Given the description of an element on the screen output the (x, y) to click on. 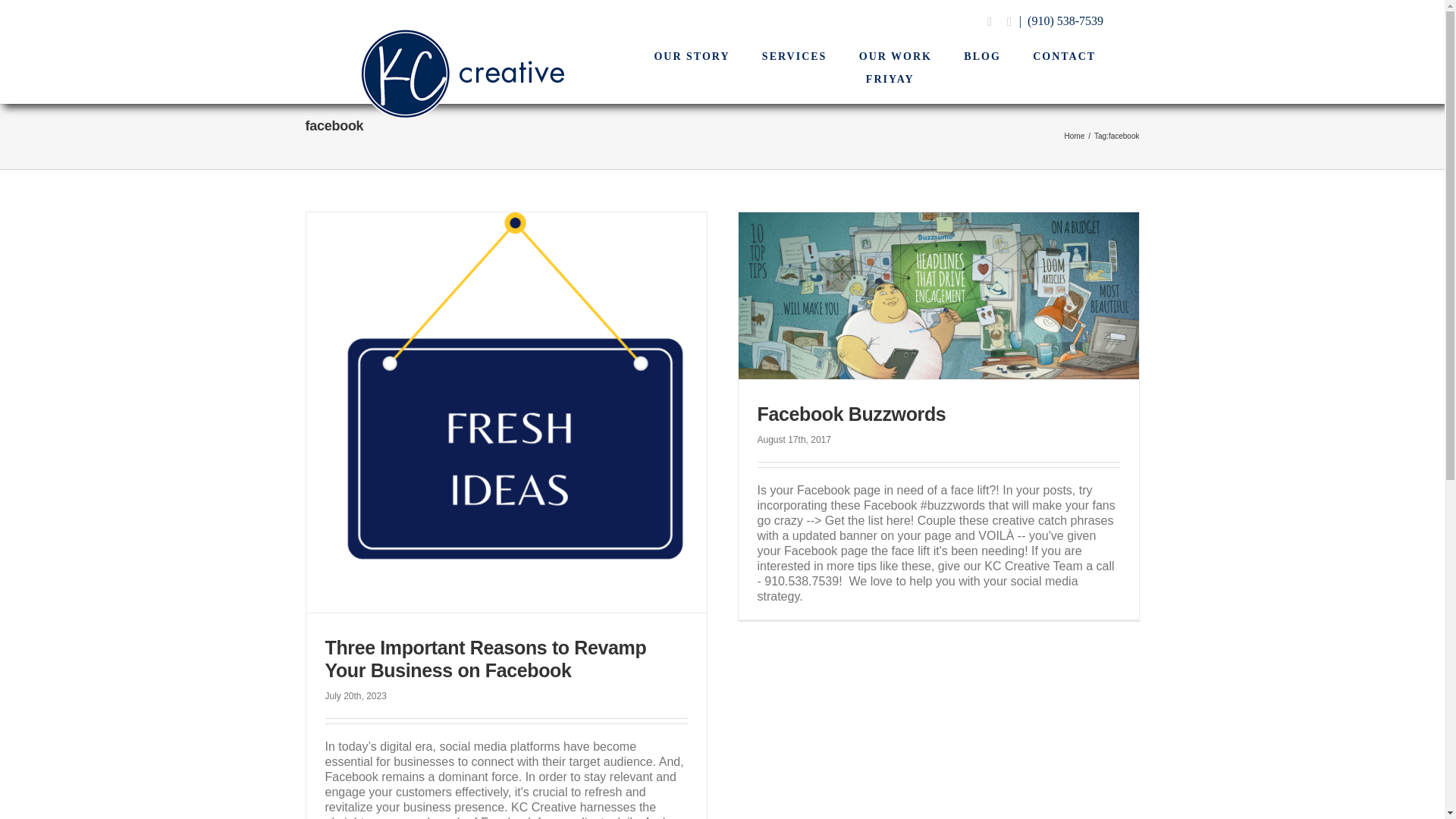
Facebook Buzzwords (850, 414)
Three Important Reasons to Revamp Your Business on Facebook (485, 658)
Home (1074, 135)
